Given the description of an element on the screen output the (x, y) to click on. 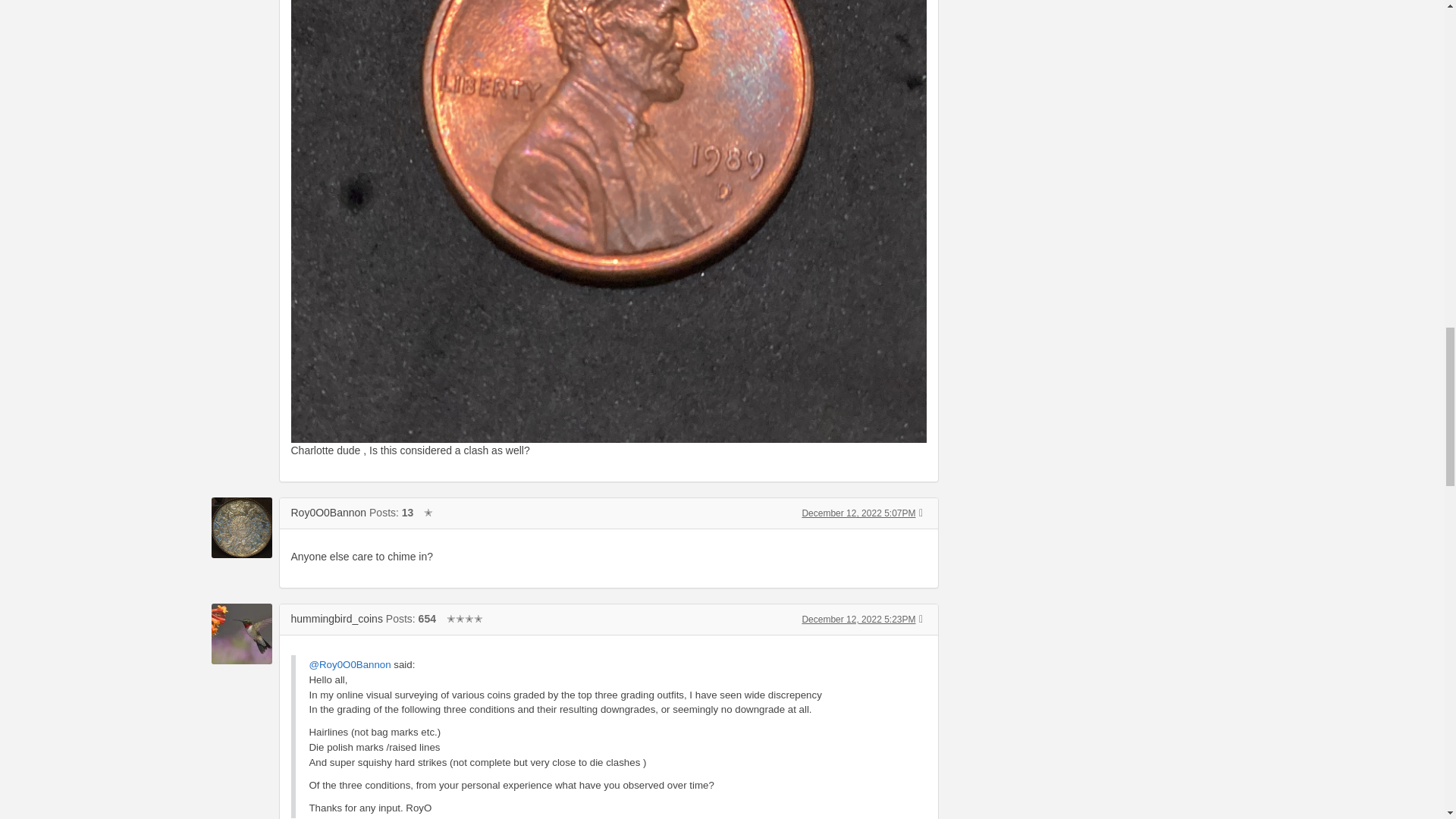
Roy0O0Bannon (328, 512)
